Given the description of an element on the screen output the (x, y) to click on. 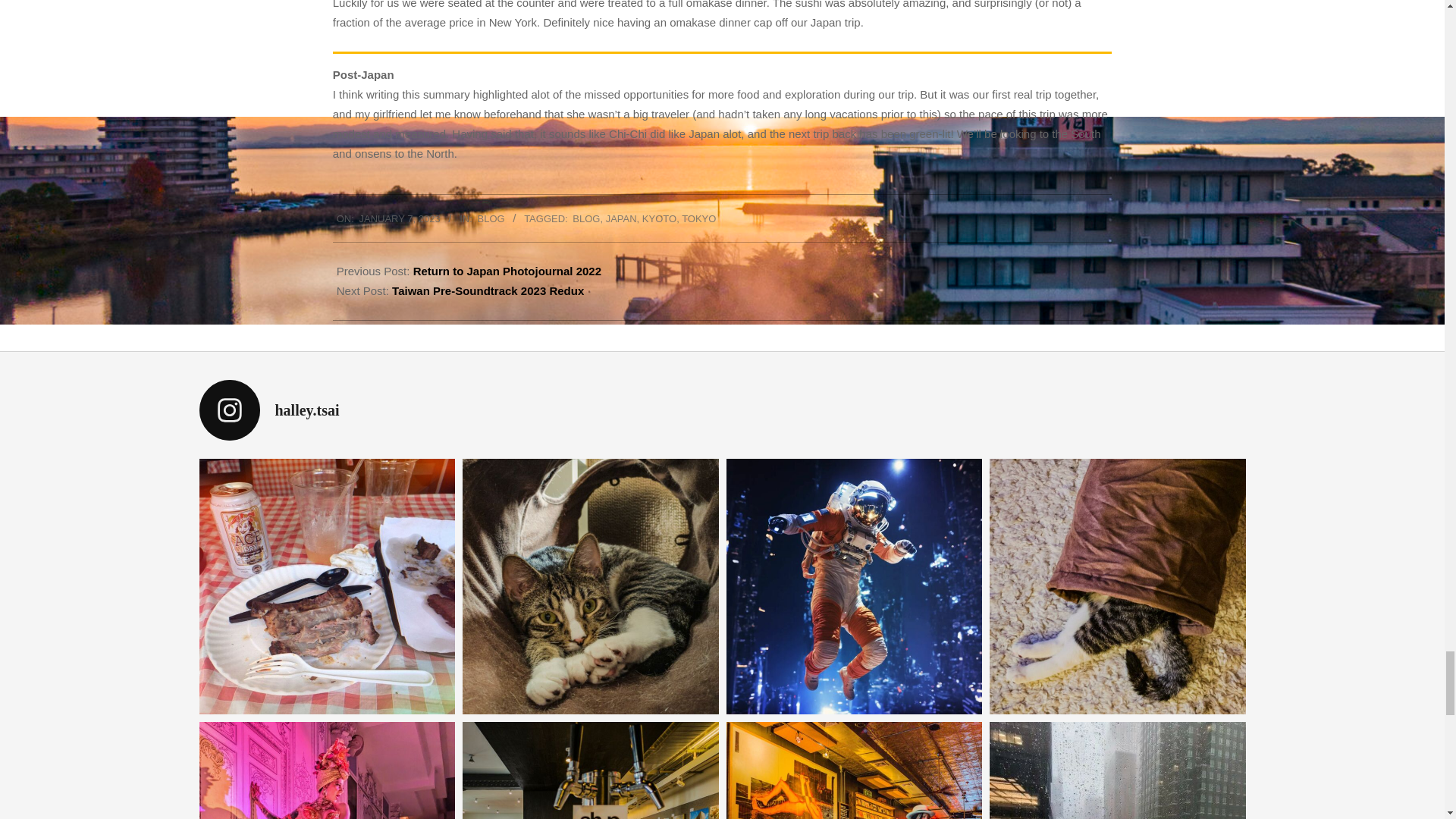
Saturday, January 7, 2023, 7:24 pm (400, 218)
